Given the description of an element on the screen output the (x, y) to click on. 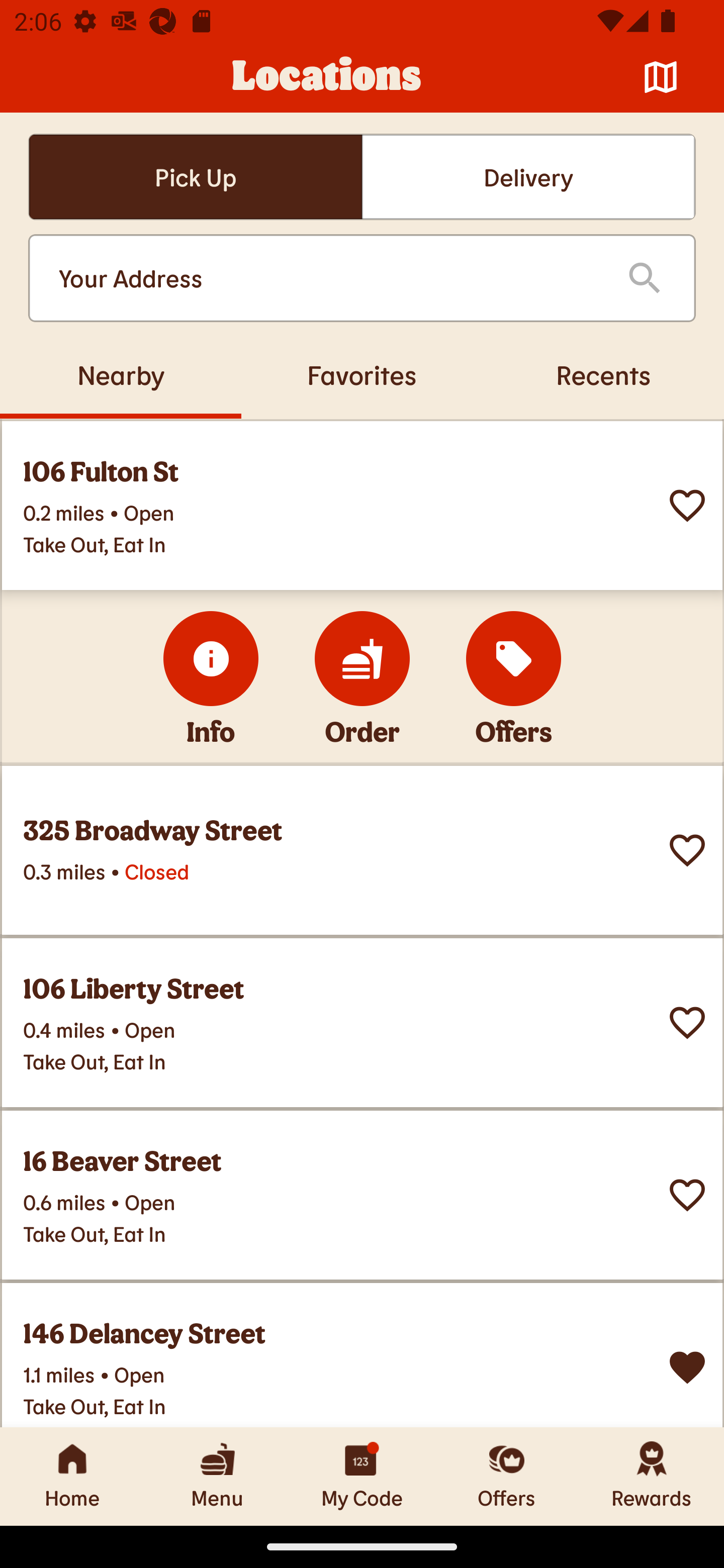
Map 󰦂 (660, 77)
Locations (326, 77)
Pick UpSelected Pick UpSelected Pick Up (195, 176)
Delivery Delivery Delivery (528, 176)
Your Address (327, 277)
Nearby (120, 374)
Favorites (361, 374)
Recents (603, 374)
Set this restaurant as a favorite  (687, 505)
Info  (210, 658)
Order (361, 658)
Offers  (513, 658)
Set this restaurant as a favorite  (687, 850)
Set this restaurant as a favorite  (687, 1022)
Set this restaurant as a favorite  (687, 1195)
Remove from Favorites?  (687, 1367)
Home (72, 1475)
Menu (216, 1475)
My Code (361, 1475)
Offers (506, 1475)
Rewards (651, 1475)
